Given the description of an element on the screen output the (x, y) to click on. 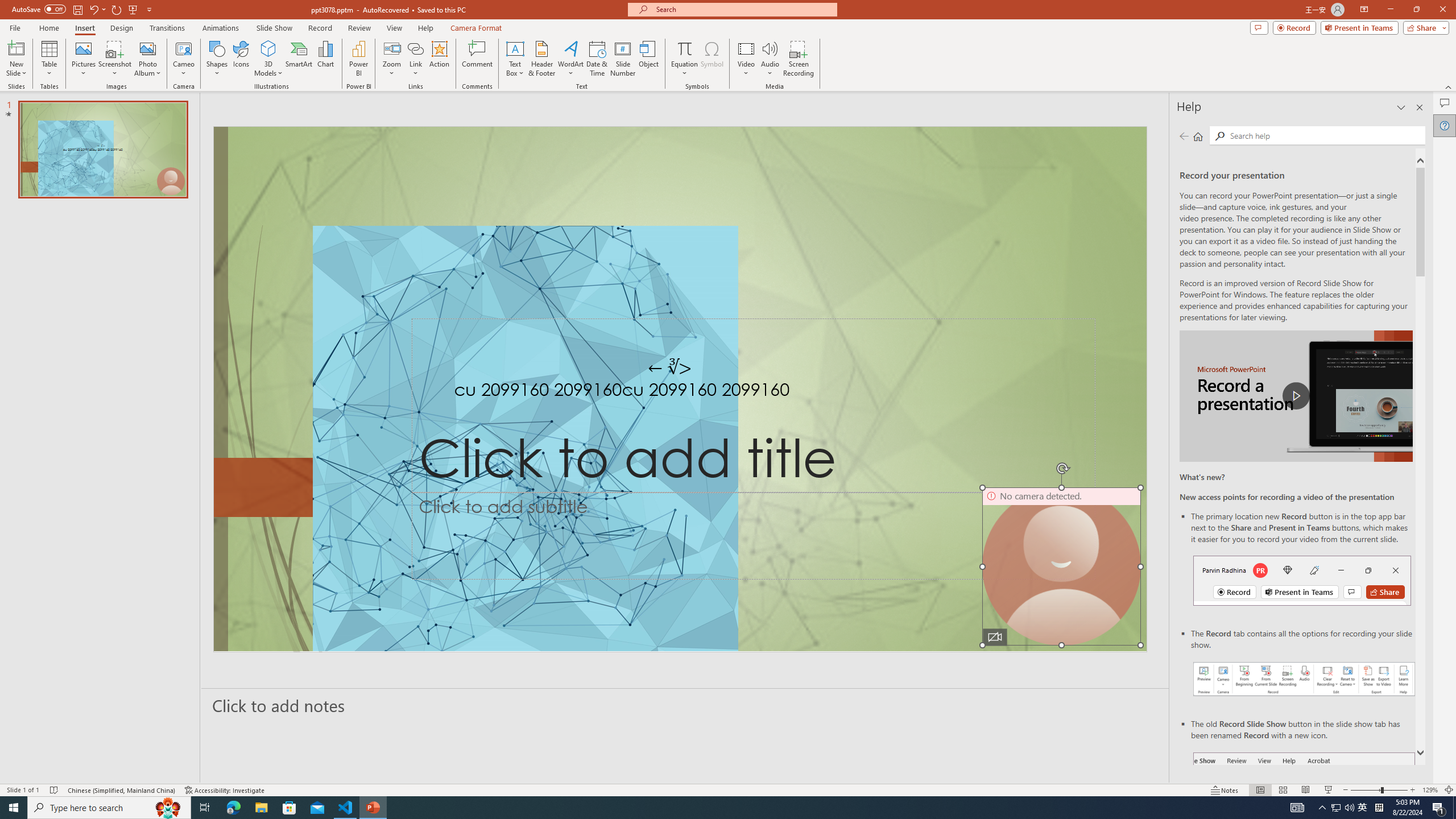
Link (415, 58)
TextBox 61 (678, 391)
Symbol... (711, 58)
Icons (240, 58)
New Photo Album... (147, 48)
